Given the description of an element on the screen output the (x, y) to click on. 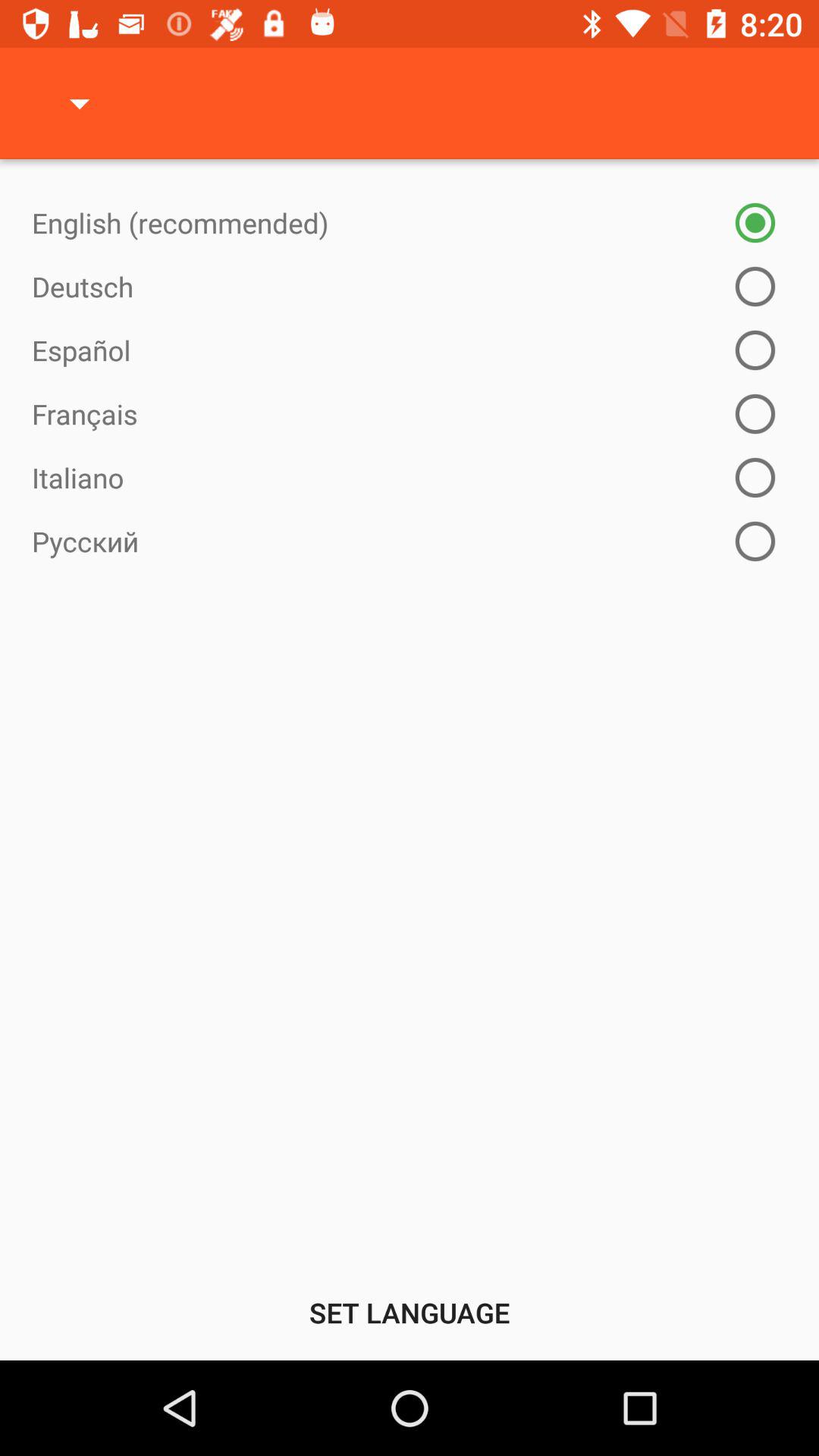
choose the item above english (recommended) item (79, 103)
